Given the description of an element on the screen output the (x, y) to click on. 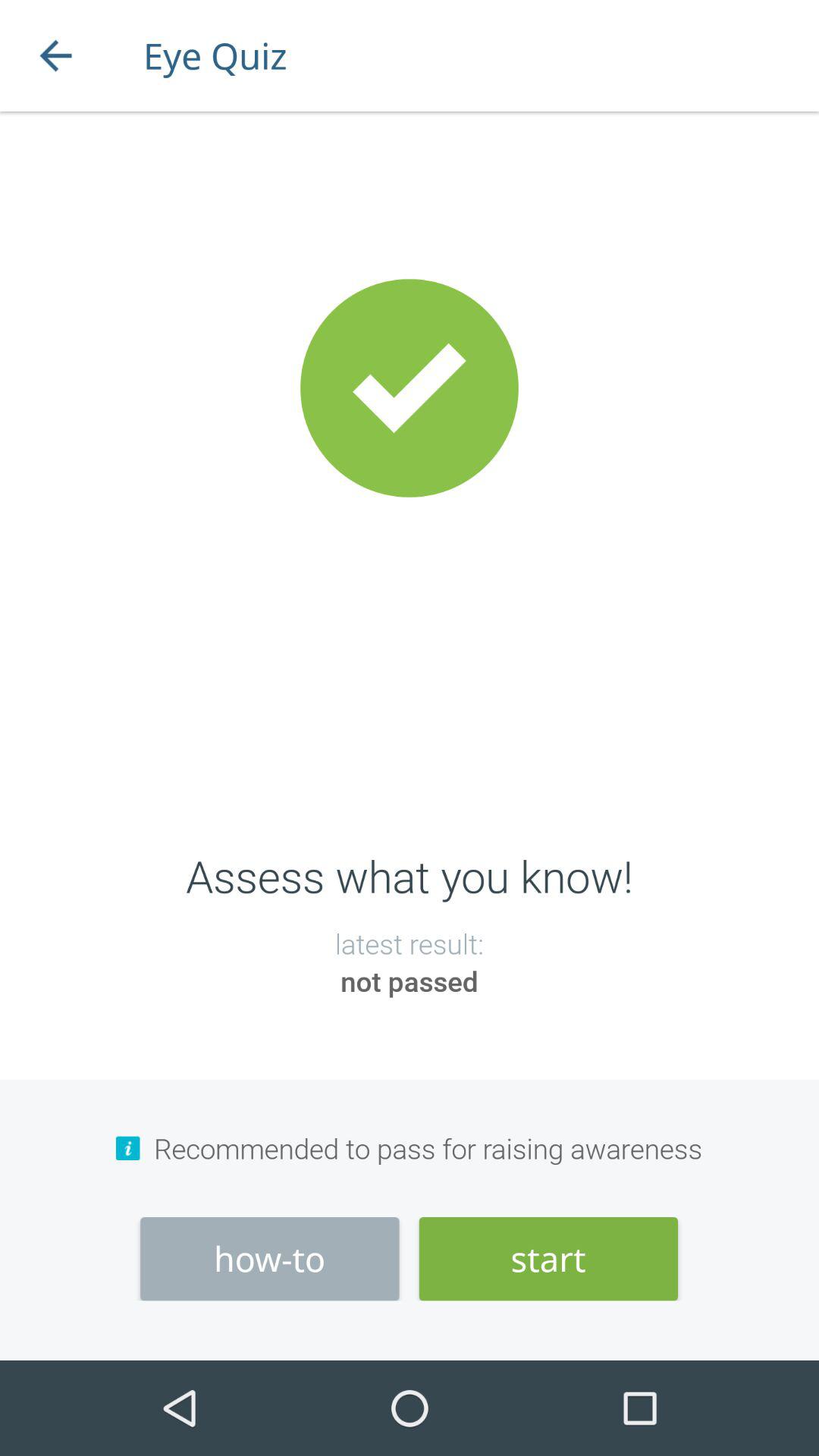
tap how-to (269, 1258)
